Given the description of an element on the screen output the (x, y) to click on. 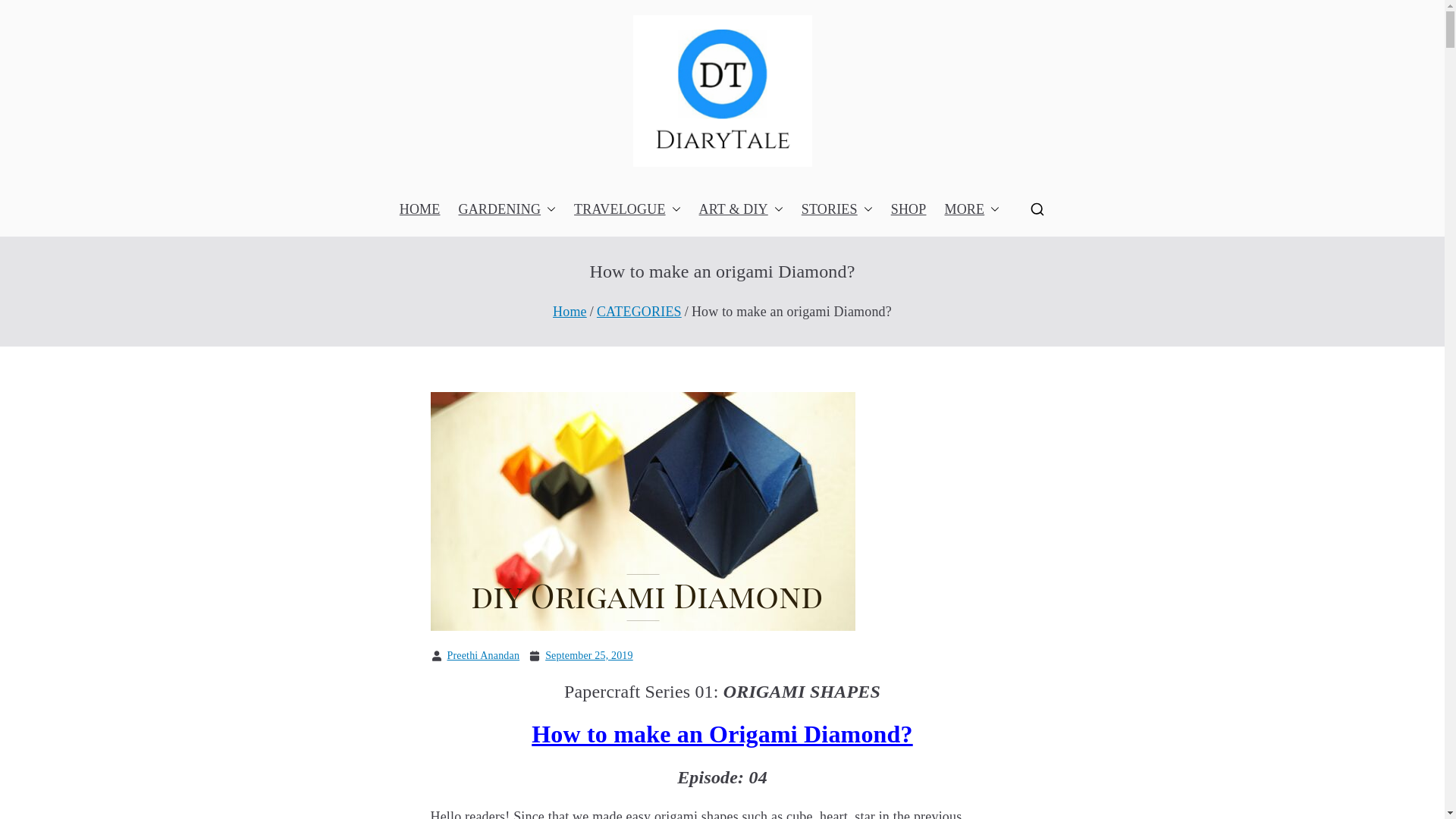
GARDENING (507, 209)
HOME (419, 209)
SHOP (908, 209)
STORIES (837, 209)
MORE (970, 209)
TRAVELOGUE (626, 209)
Diary Tale (790, 201)
Search (26, 13)
